Given the description of an element on the screen output the (x, y) to click on. 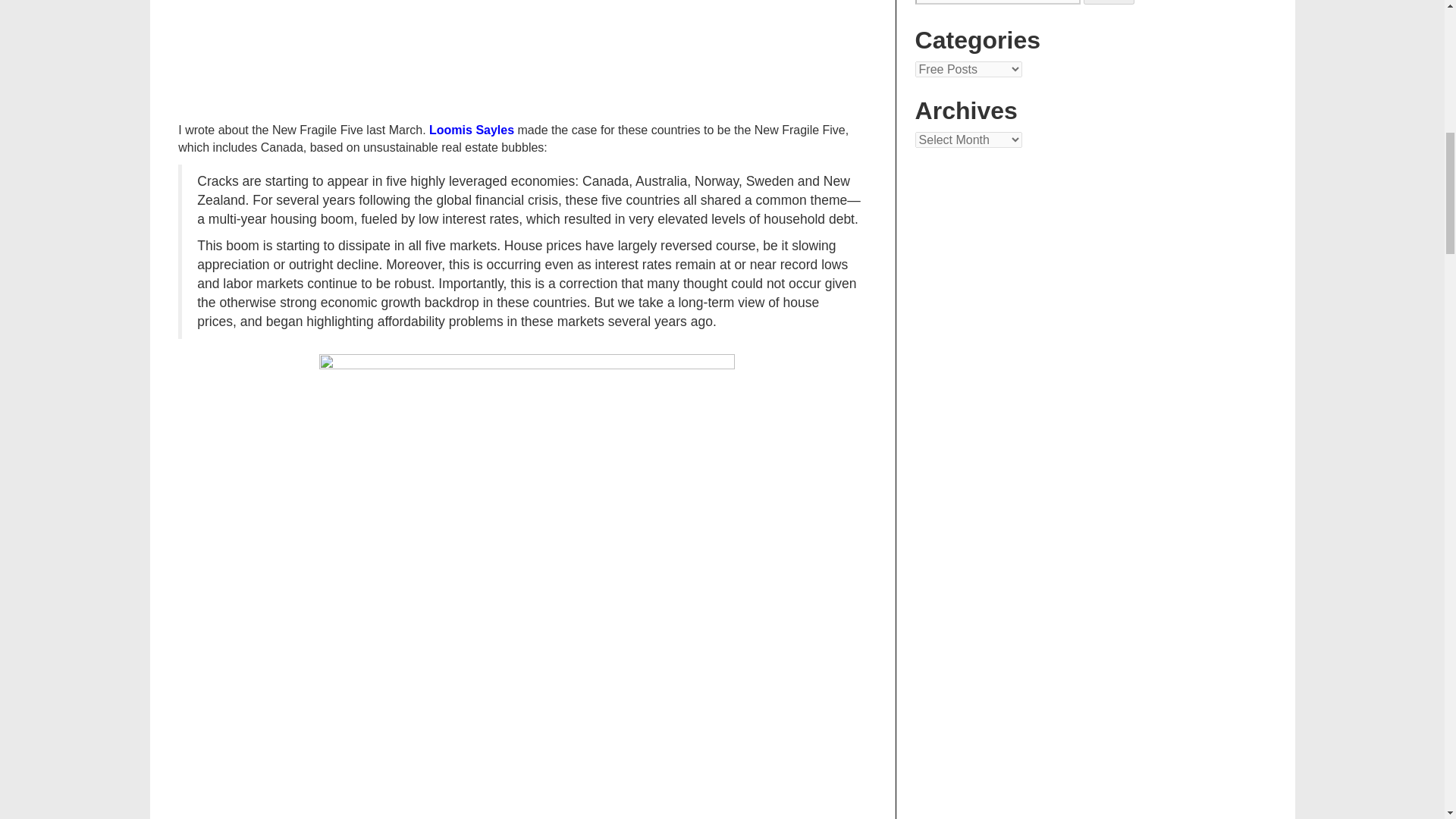
Search (1108, 2)
Loomis Sayles (471, 129)
Search (1108, 2)
